Given the description of an element on the screen output the (x, y) to click on. 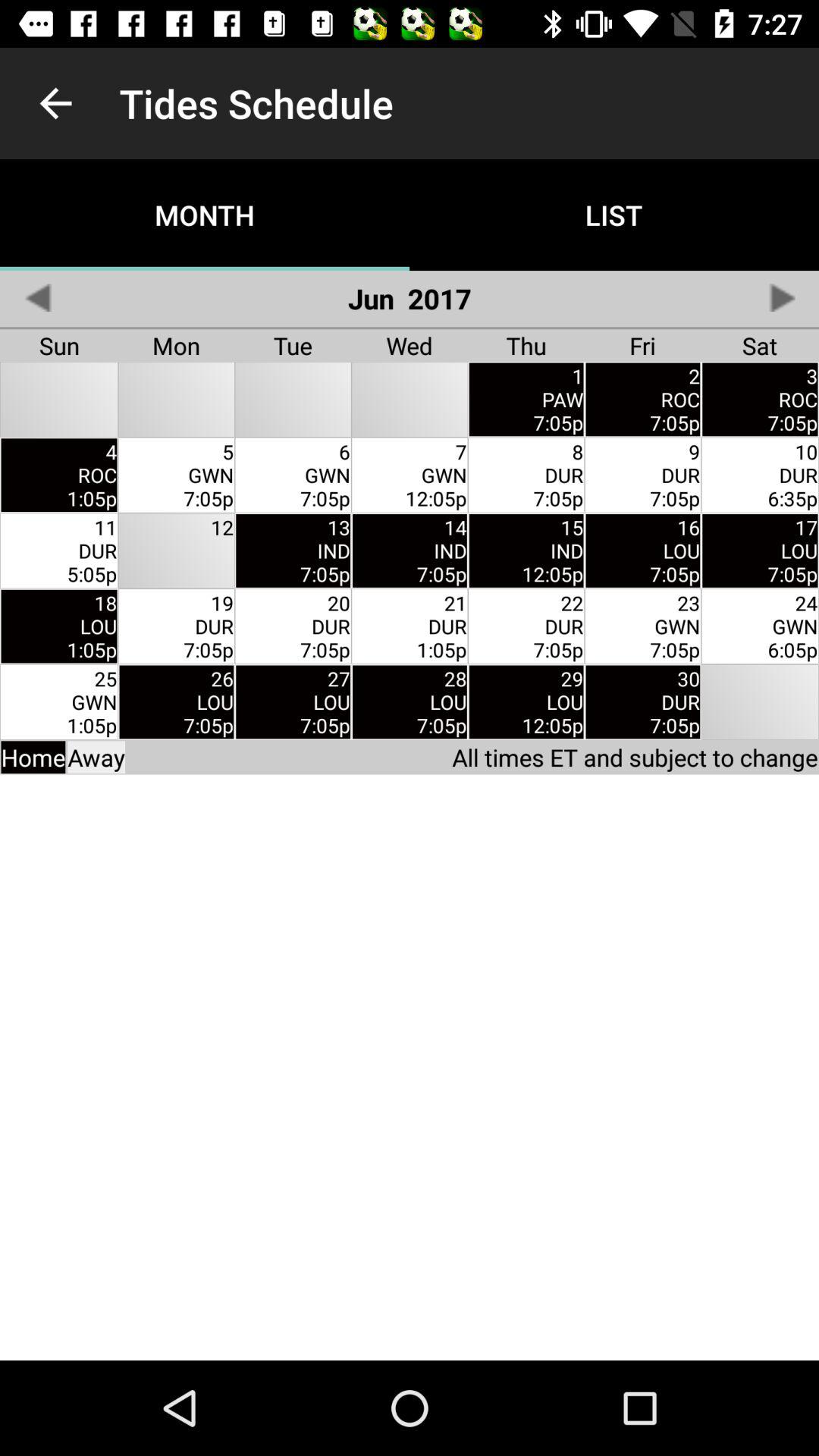
turn on the app next to tides schedule app (55, 103)
